Given the description of an element on the screen output the (x, y) to click on. 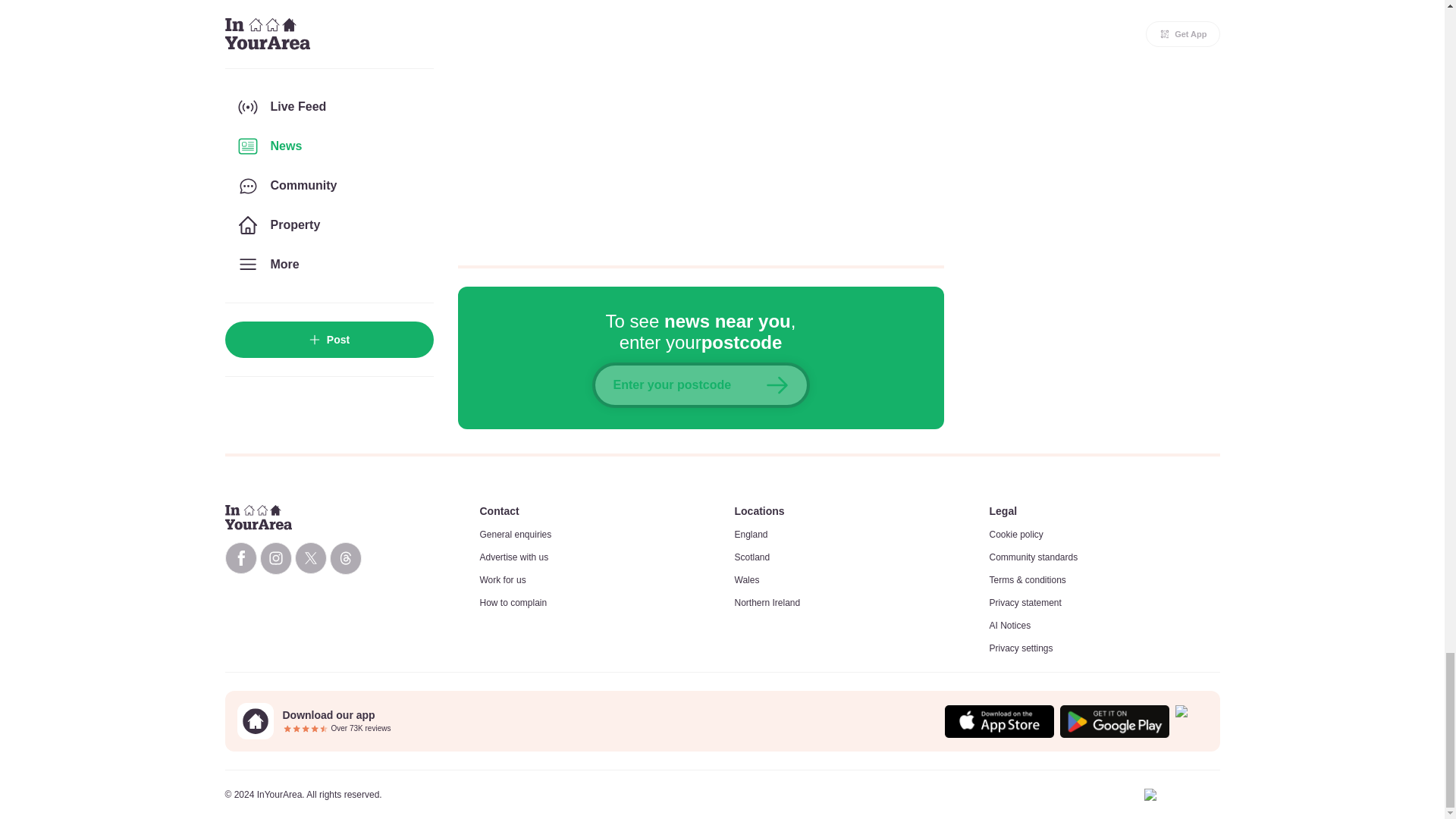
comments (701, 122)
InYourArea Threads (345, 558)
InYourArea Facebook (240, 558)
InYourArea X (310, 558)
InYourArea Instagram (275, 558)
